Given the description of an element on the screen output the (x, y) to click on. 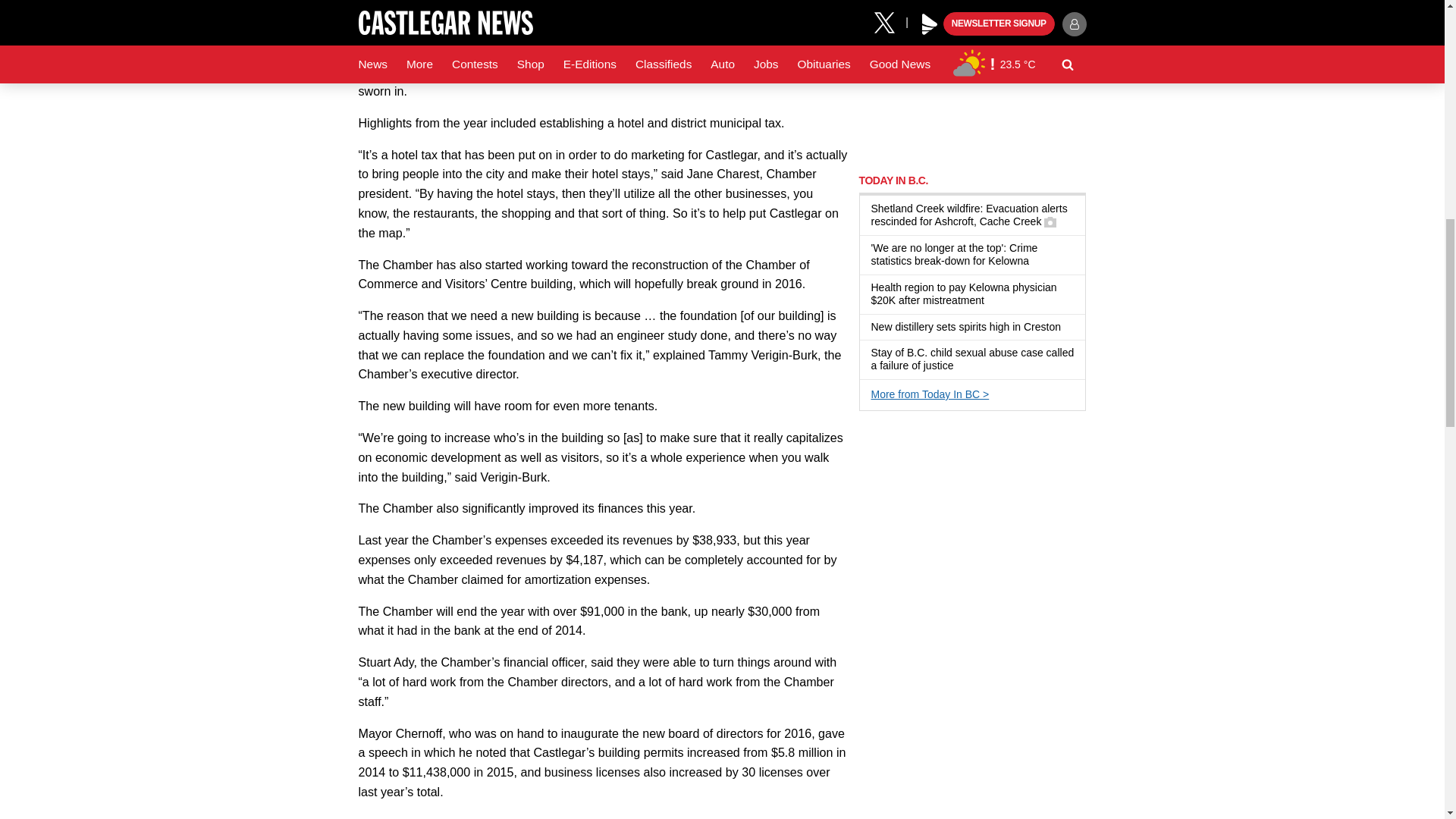
Has a gallery (1050, 222)
